Given the description of an element on the screen output the (x, y) to click on. 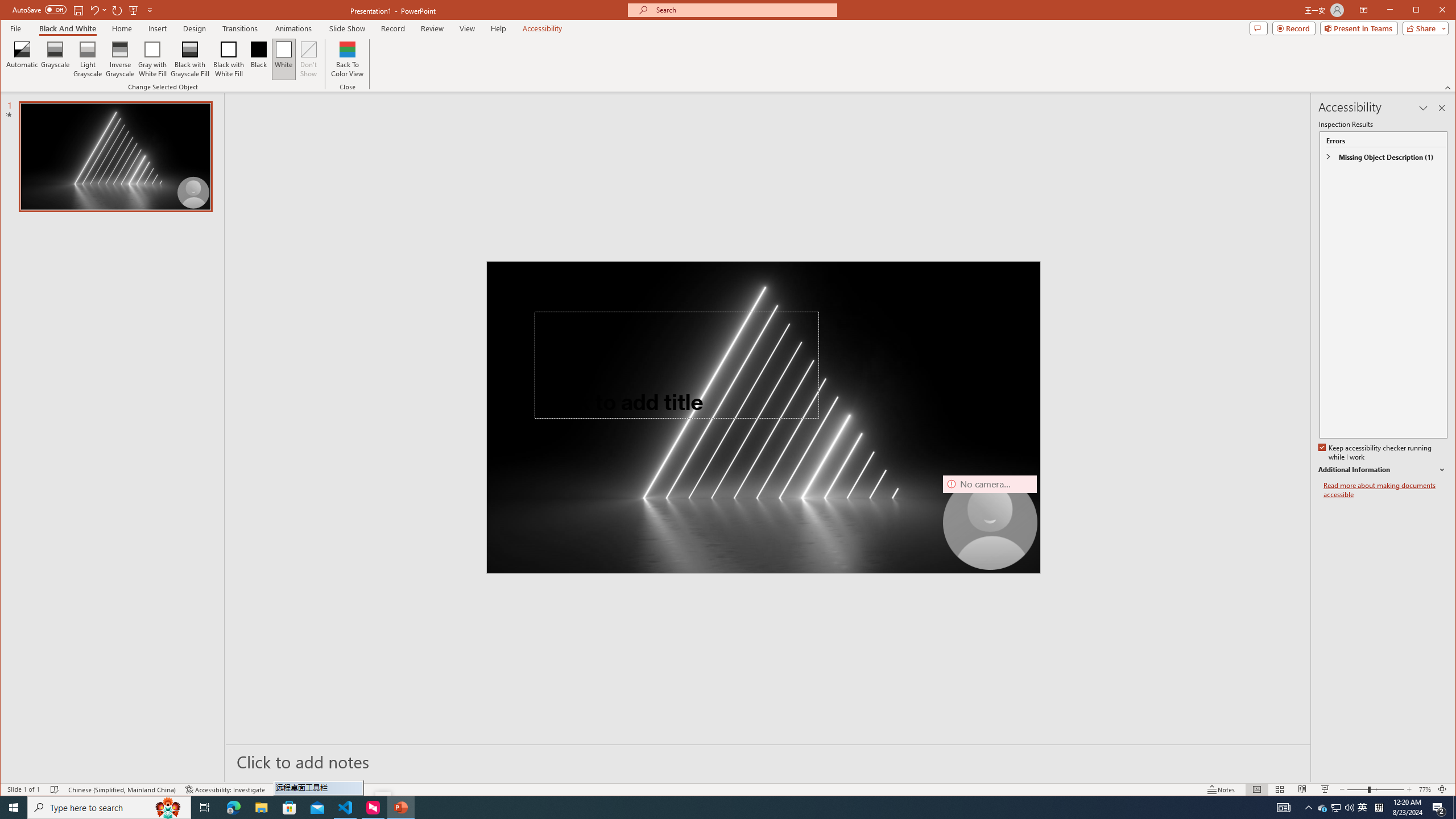
Zoom 77% (1424, 789)
Subtitle TextBox (649, 466)
Back To Color View (347, 59)
